Given the description of an element on the screen output the (x, y) to click on. 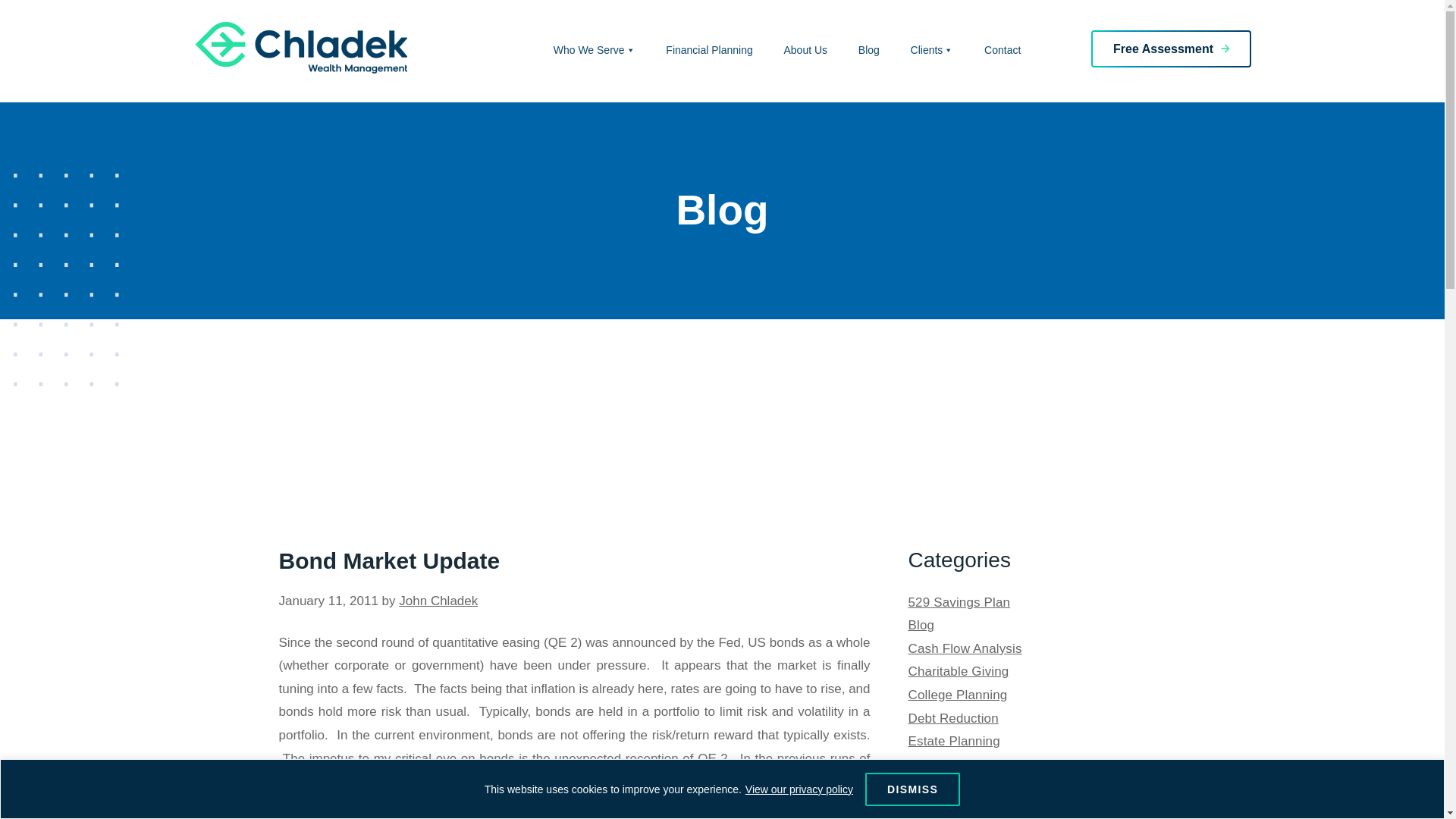
Clients (932, 55)
Cash Flow Analysis (965, 648)
About Us (805, 55)
Contact (1002, 55)
Who We Serve (594, 55)
DISMISS (911, 788)
Blog (921, 625)
Blog (868, 55)
Chladek Wealth Management (300, 47)
Free Assessment (1170, 48)
